Given the description of an element on the screen output the (x, y) to click on. 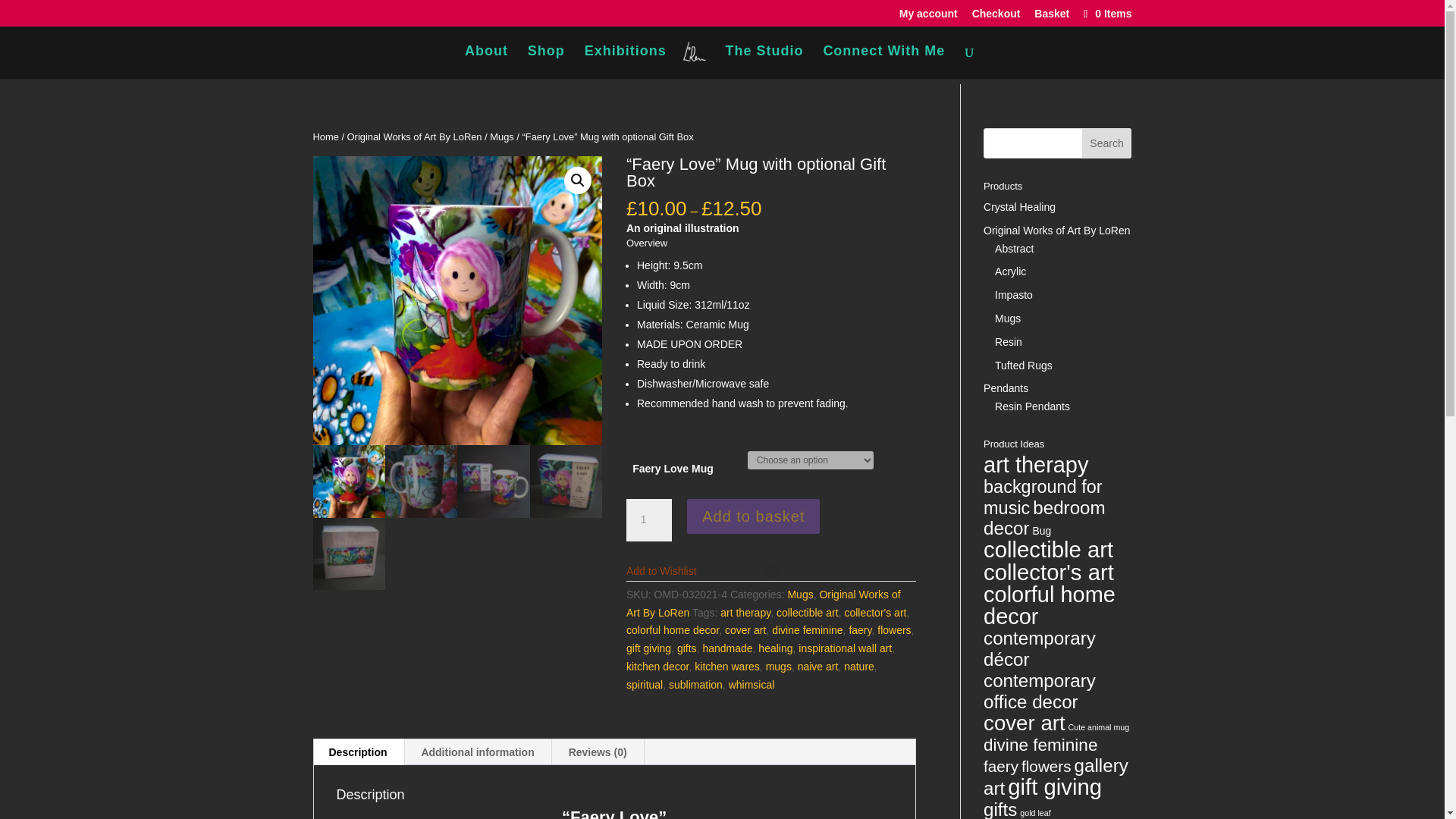
cover art (745, 630)
colorful home decor (672, 630)
Search (1106, 142)
flowers (894, 630)
Add to basket (753, 515)
The Studio (764, 61)
Exhibitions (625, 61)
1 (648, 519)
Checkout (996, 16)
Faery Love Mug (457, 300)
